Given the description of an element on the screen output the (x, y) to click on. 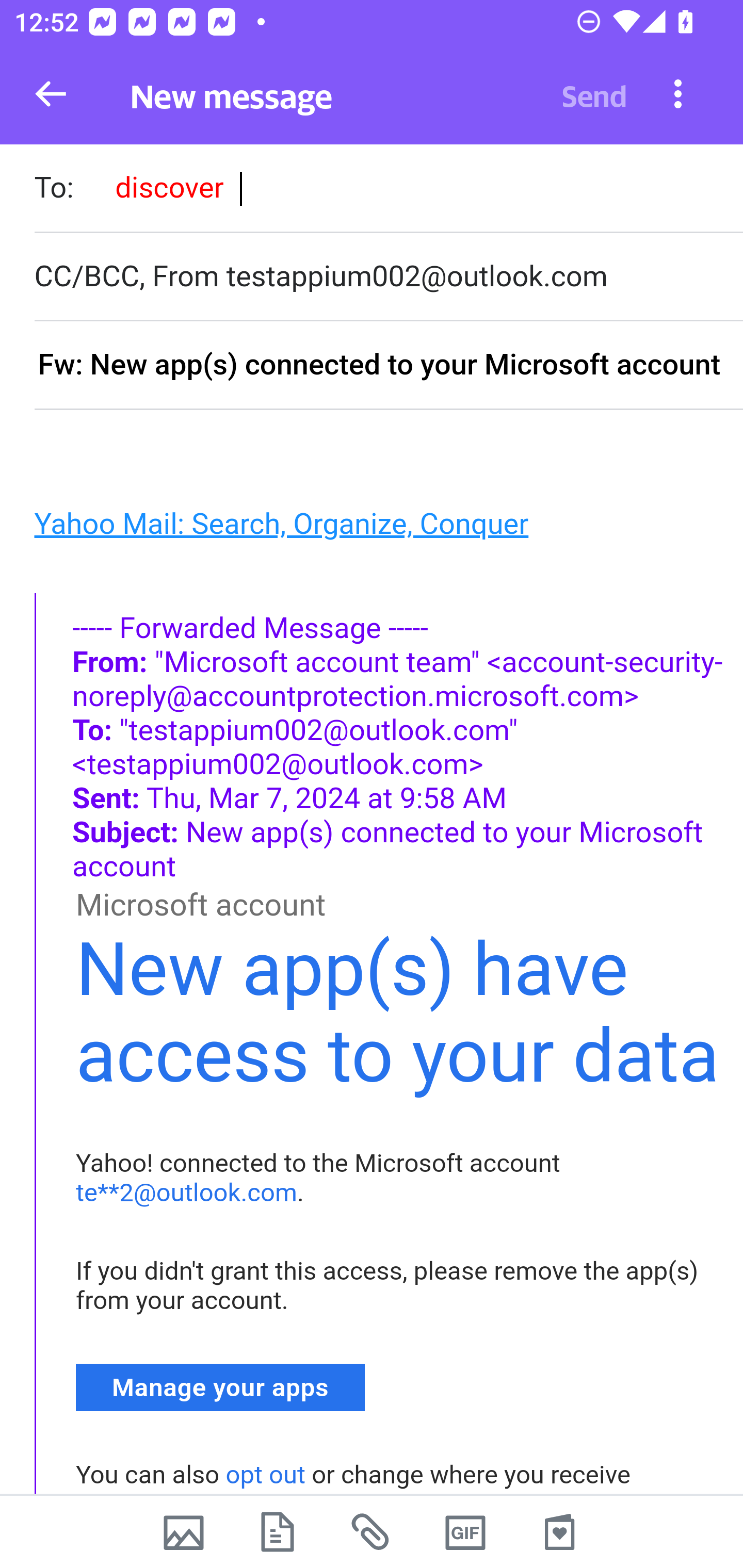
Back (50, 93)
Send (594, 93)
More options (677, 93)
To: discover (387, 189)
discover (169, 187)
CC/BCC, From testappium002@outlook.com (387, 276)
Fw: New app(s) connected to your Microsoft account (387, 365)
Yahoo Mail: Search, Organize, Conquer (280, 522)
te**2@outlook.com (186, 1192)
Manage your apps (220, 1386)
opt out (264, 1474)
Camera photos (183, 1531)
Device files (277, 1531)
Recent attachments from mail (371, 1531)
GIFs (465, 1531)
Stationery (559, 1531)
